Given the description of an element on the screen output the (x, y) to click on. 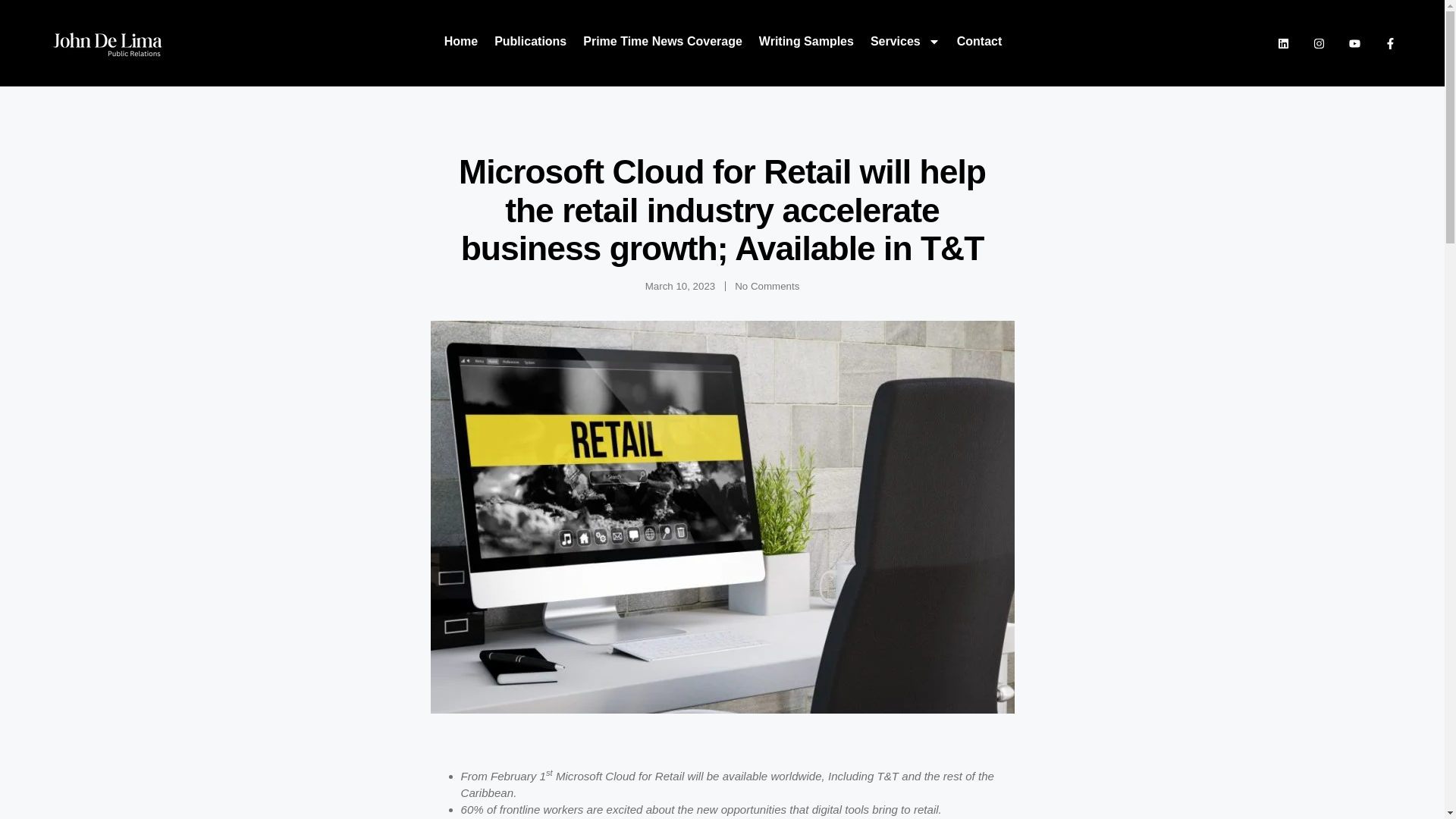
Prime Time News Coverage (662, 41)
Services (905, 41)
Publications (530, 41)
Contact (979, 41)
No Comments (767, 286)
March 10, 2023 (680, 286)
Home (460, 41)
Writing Samples (805, 41)
